Given the description of an element on the screen output the (x, y) to click on. 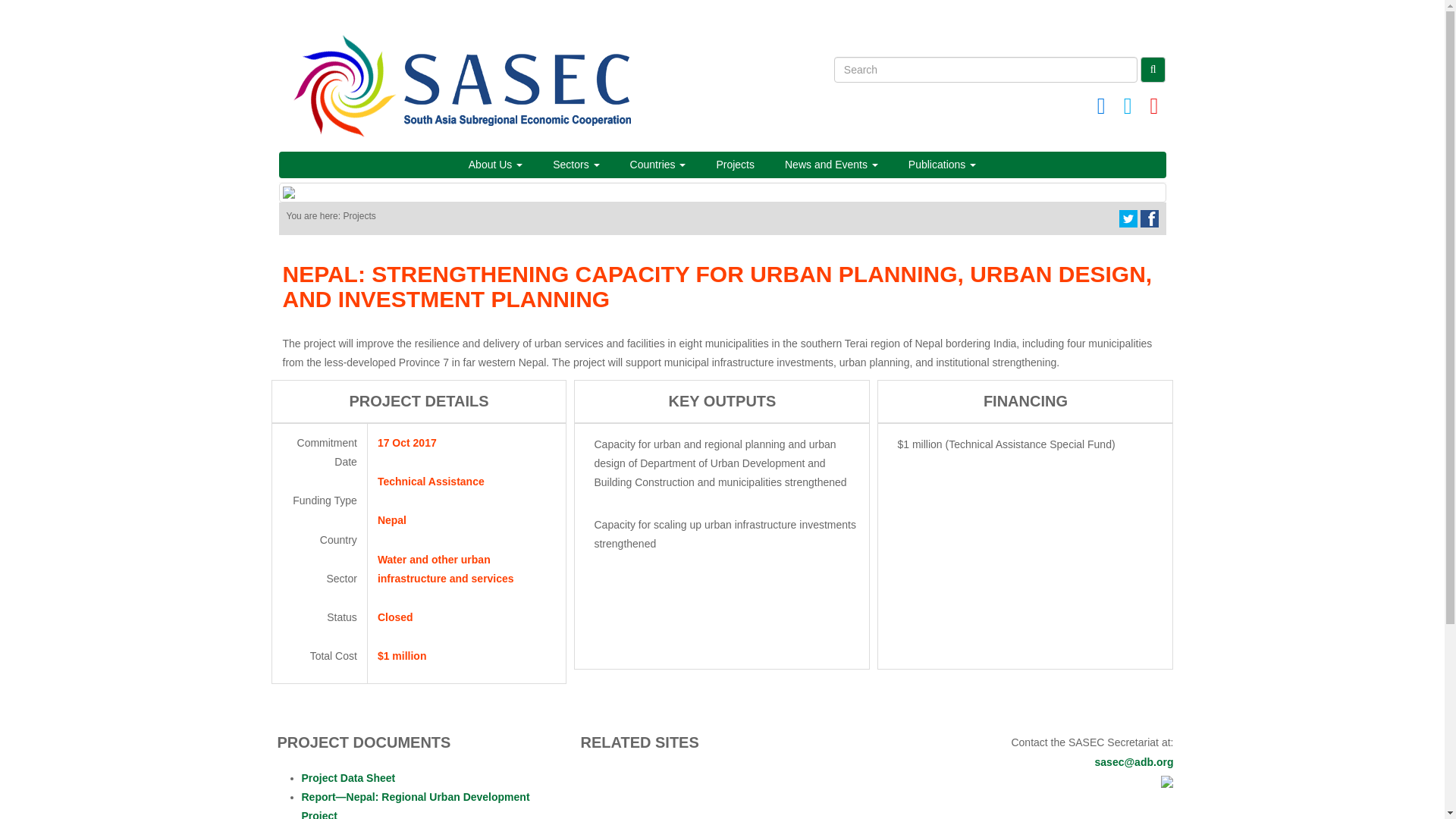
Countries (657, 164)
Sectors (575, 164)
About Us (494, 164)
